Given the description of an element on the screen output the (x, y) to click on. 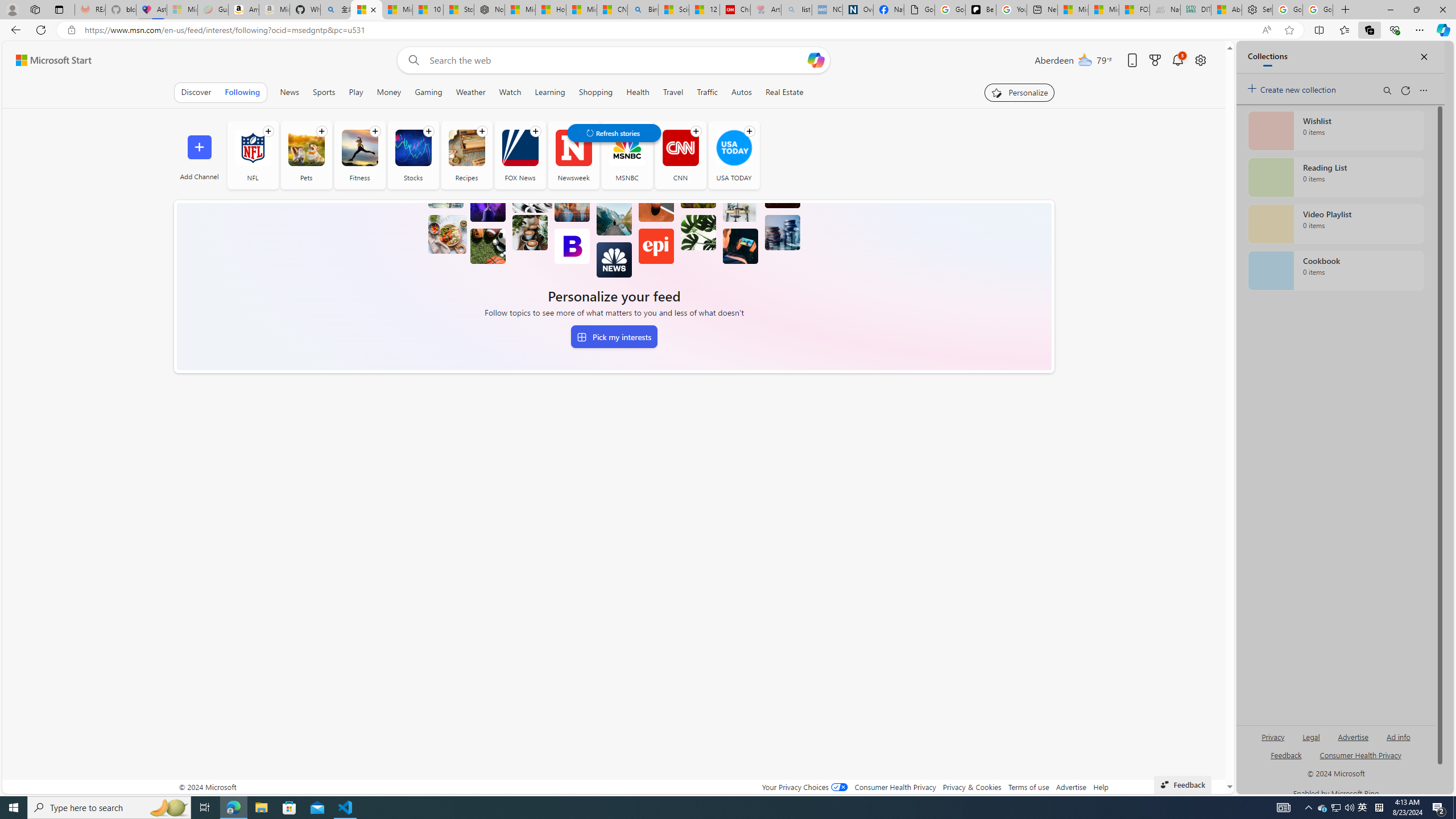
12 Popular Science Lies that Must be Corrected (704, 9)
Health (637, 92)
Arthritis: Ask Health Professionals - Sleeping (765, 9)
Terms of use (1028, 786)
Fitness (359, 147)
Microsoft rewards (1154, 60)
How I Got Rid of Microsoft Edge's Unnecessary Features (549, 9)
Money (388, 92)
Google Analytics Opt-out Browser Add-on Download Page (919, 9)
Add Channel (199, 155)
Privacy & Cookies (971, 786)
